Given the description of an element on the screen output the (x, y) to click on. 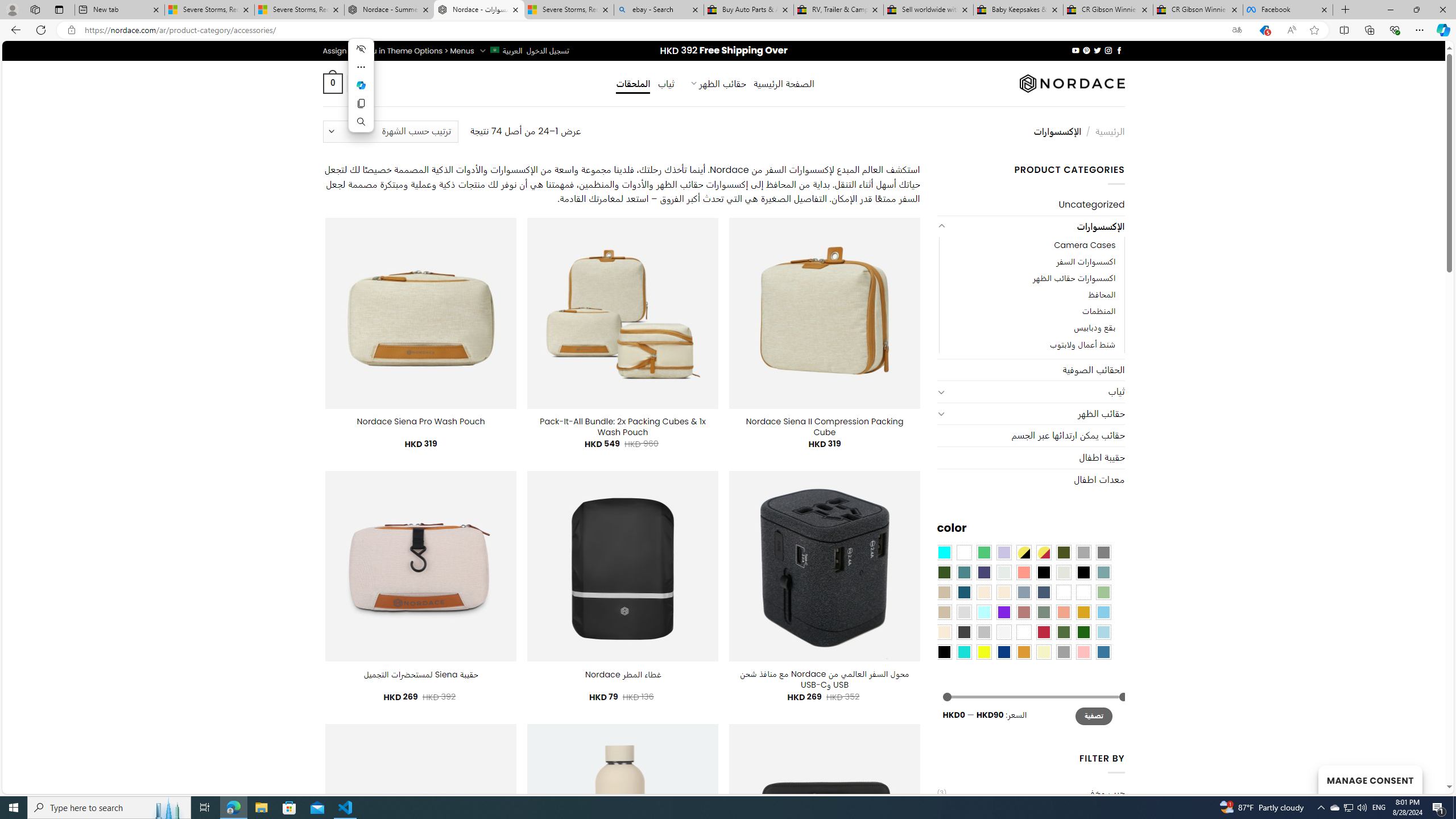
Nordace Siena II Compression Packing Cube (824, 427)
Mini menu on text selection (360, 91)
Add this page to favorites (Ctrl+D) (1314, 29)
New Tab (1346, 9)
Hide menu (360, 49)
Hale Navy (1043, 591)
Aqua Blue (944, 551)
Follow on Twitter (1096, 50)
Back (13, 29)
Mint (983, 611)
Follow on YouTube (1074, 50)
